Given the description of an element on the screen output the (x, y) to click on. 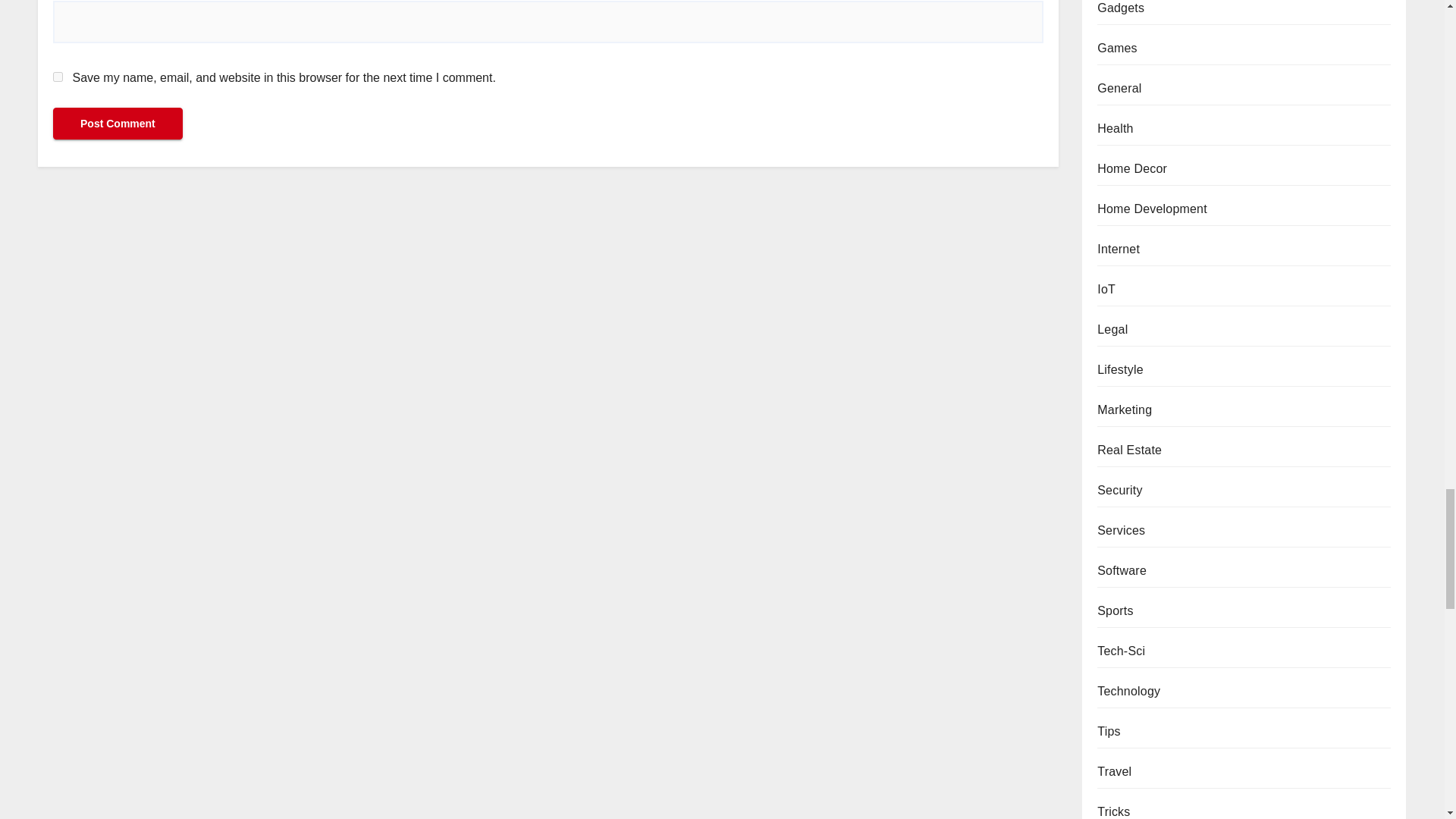
yes (57, 76)
Post Comment (117, 123)
